Given the description of an element on the screen output the (x, y) to click on. 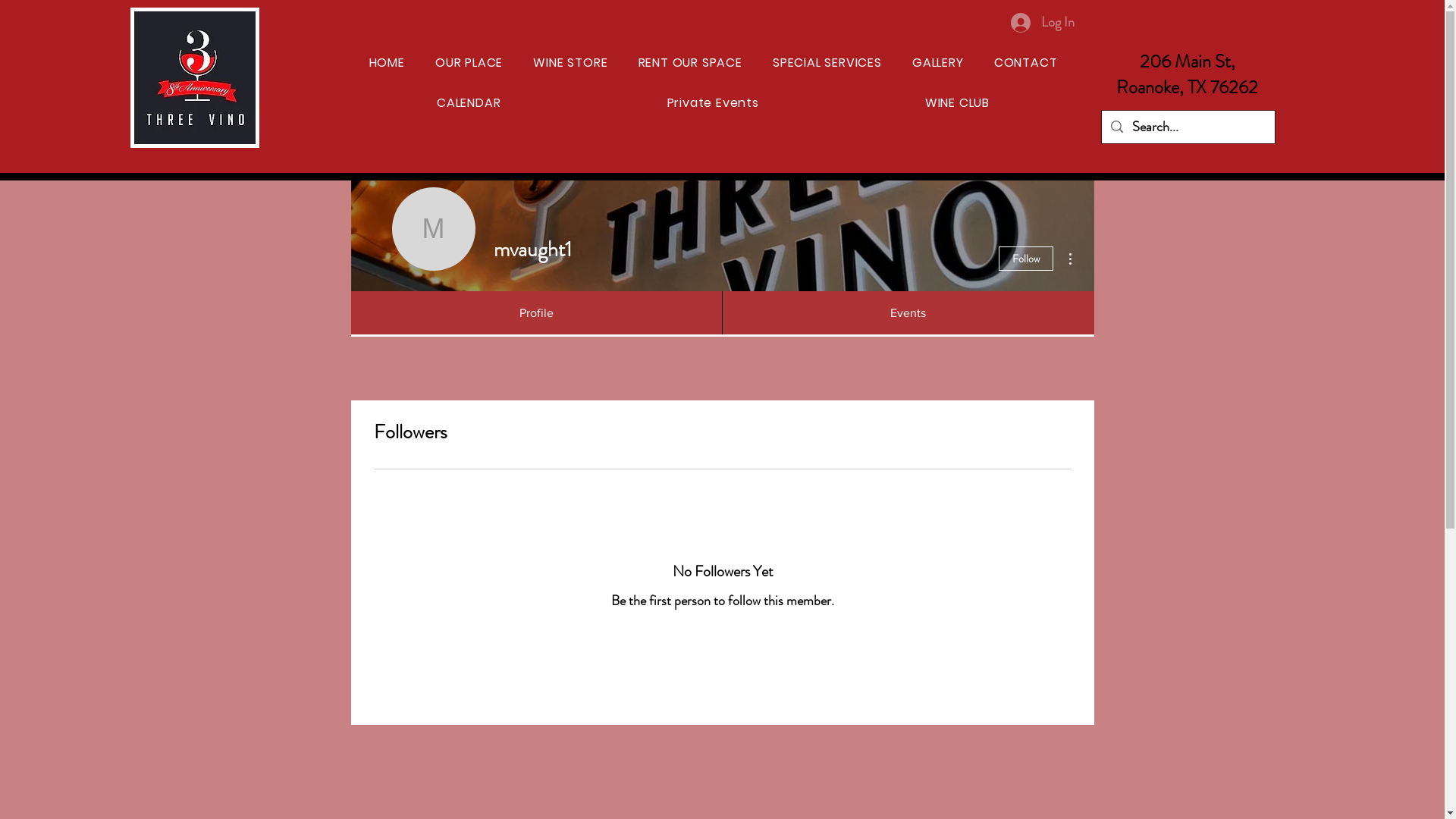
OUR PLACE Element type: text (468, 62)
HOME Element type: text (386, 62)
CONTACT Element type: text (1026, 62)
CALENDAR Element type: text (468, 102)
WINE CLUB Element type: text (956, 102)
Log In Element type: text (1041, 22)
Follow Element type: text (1024, 258)
SPECIAL SERVICES Element type: text (827, 62)
WINE STORE Element type: text (569, 62)
GALLERY Element type: text (937, 62)
Events Element type: text (907, 312)
Private Events Element type: text (712, 102)
RENT OUR SPACE Element type: text (689, 62)
Profile Element type: text (535, 312)
